Given the description of an element on the screen output the (x, y) to click on. 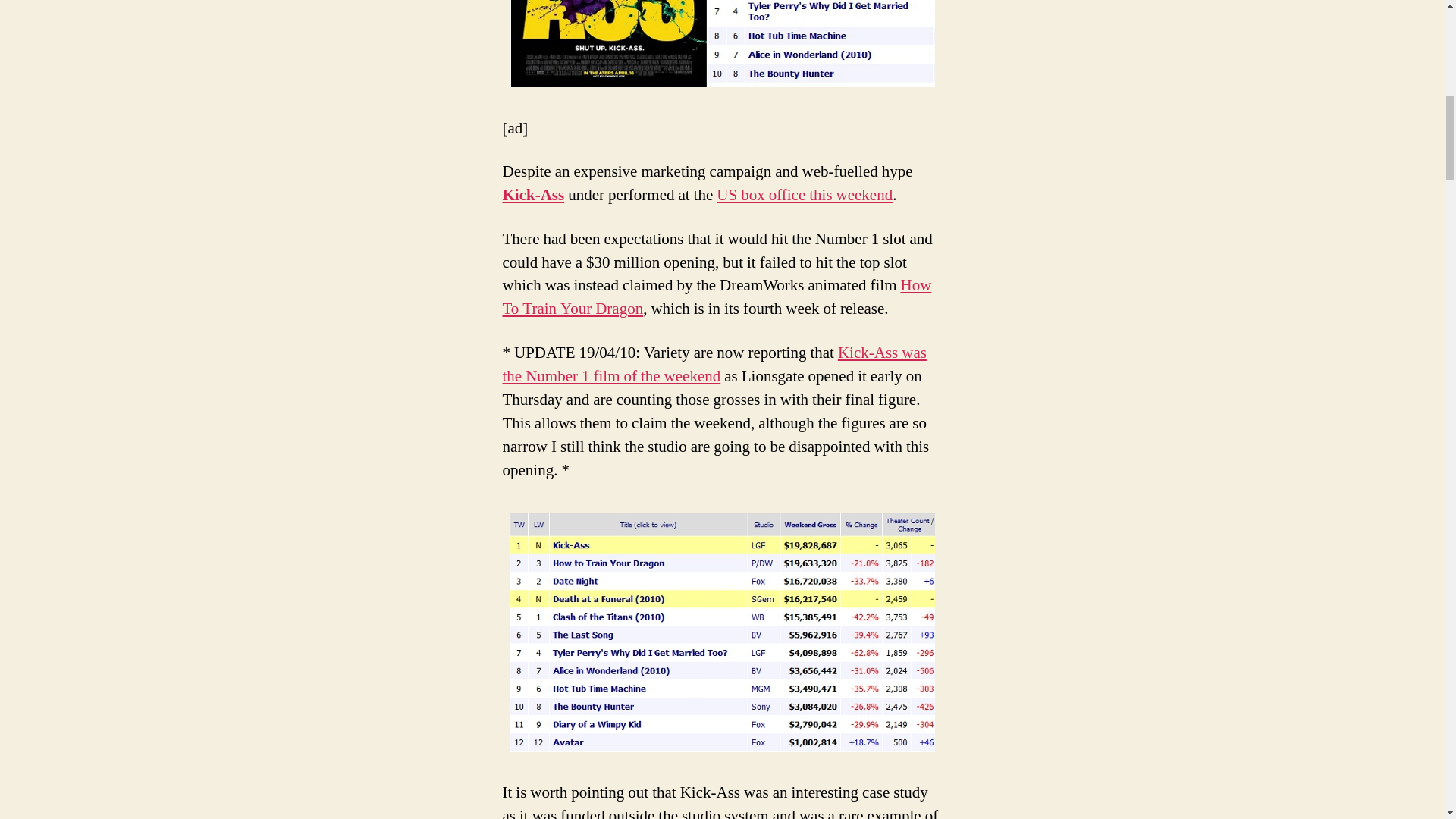
US box office this weekend (804, 195)
Kick-Ass was the Number 1 film of the weekend (714, 364)
How To Train Your Dragon (716, 297)
Kick-Ass (533, 195)
Revised Box Office Figures April 16-18 2010 (721, 632)
Kick-Ass Underperforms (721, 43)
